Given the description of an element on the screen output the (x, y) to click on. 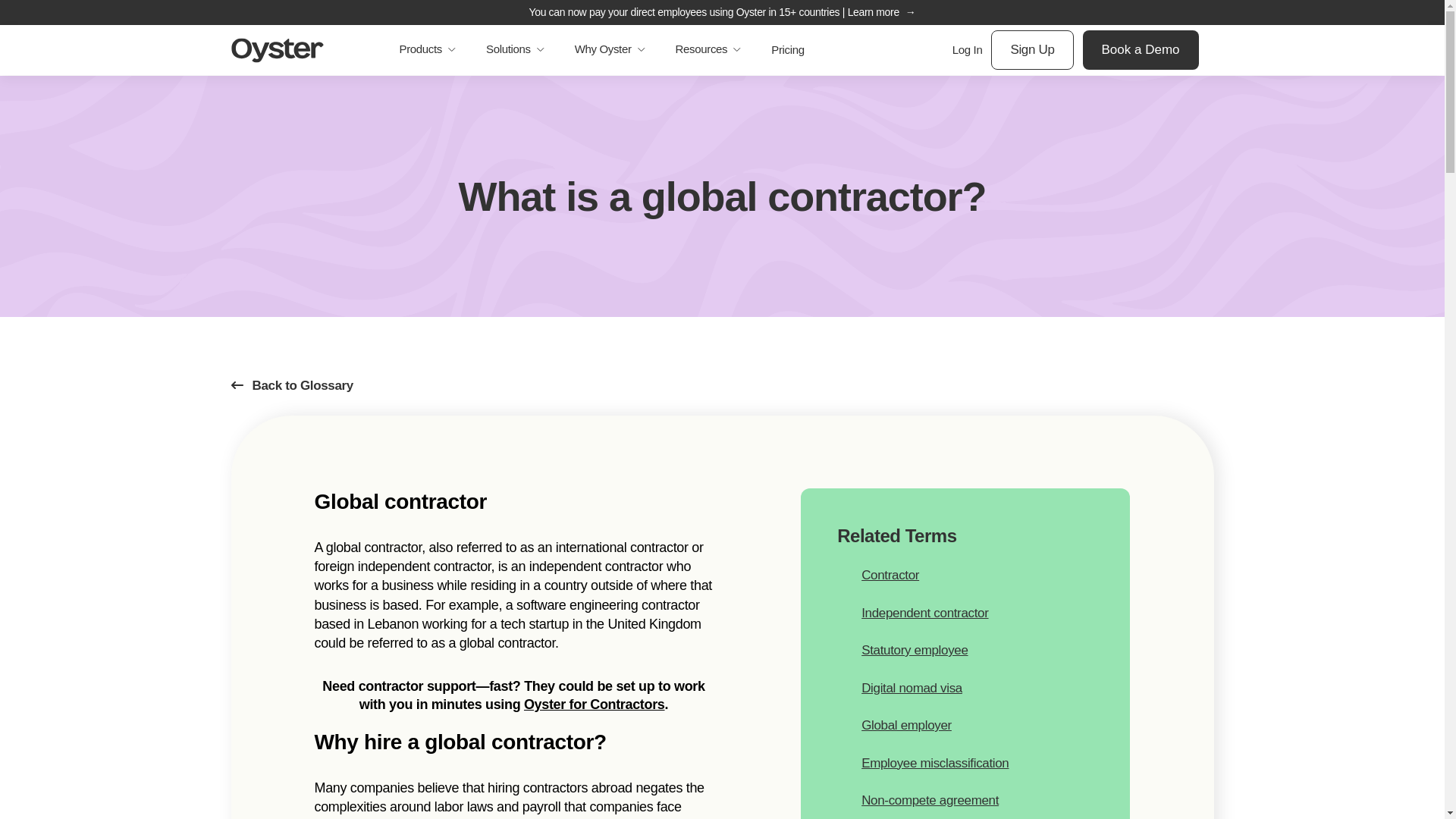
Statutory employee (965, 650)
Contractor (965, 575)
Digital nomad visa (965, 688)
Sign Up (1032, 49)
Book a Demo (1140, 49)
Oyster for Contractors (594, 703)
Back to Glossary (293, 388)
Global employer (965, 725)
Independent contractor (965, 613)
